Given the description of an element on the screen output the (x, y) to click on. 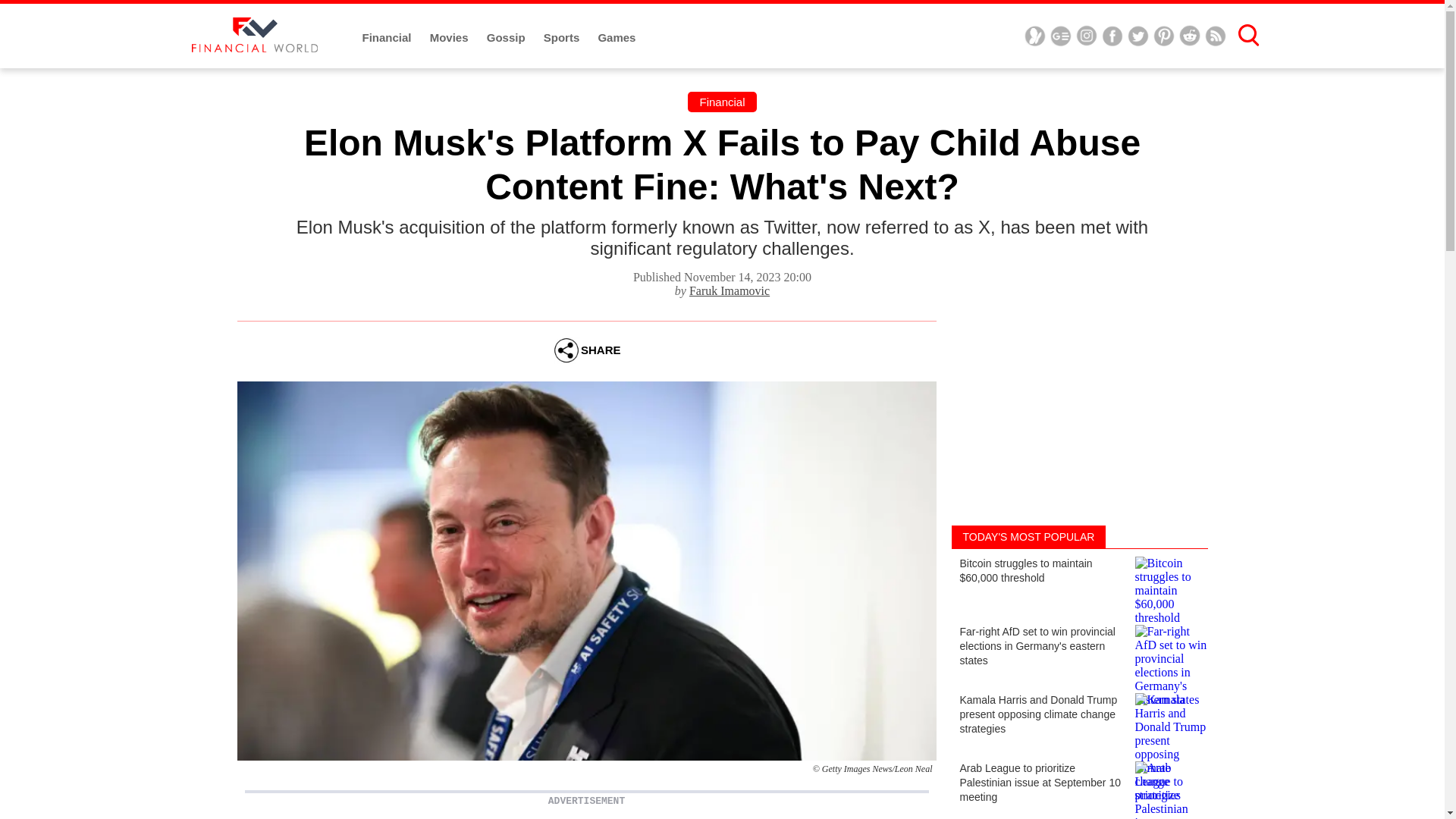
Faruk Imamovic (729, 290)
Financial (721, 101)
Gossip (507, 37)
Games (615, 37)
Sports (563, 37)
Movies (450, 37)
Financial (388, 37)
